Given the description of an element on the screen output the (x, y) to click on. 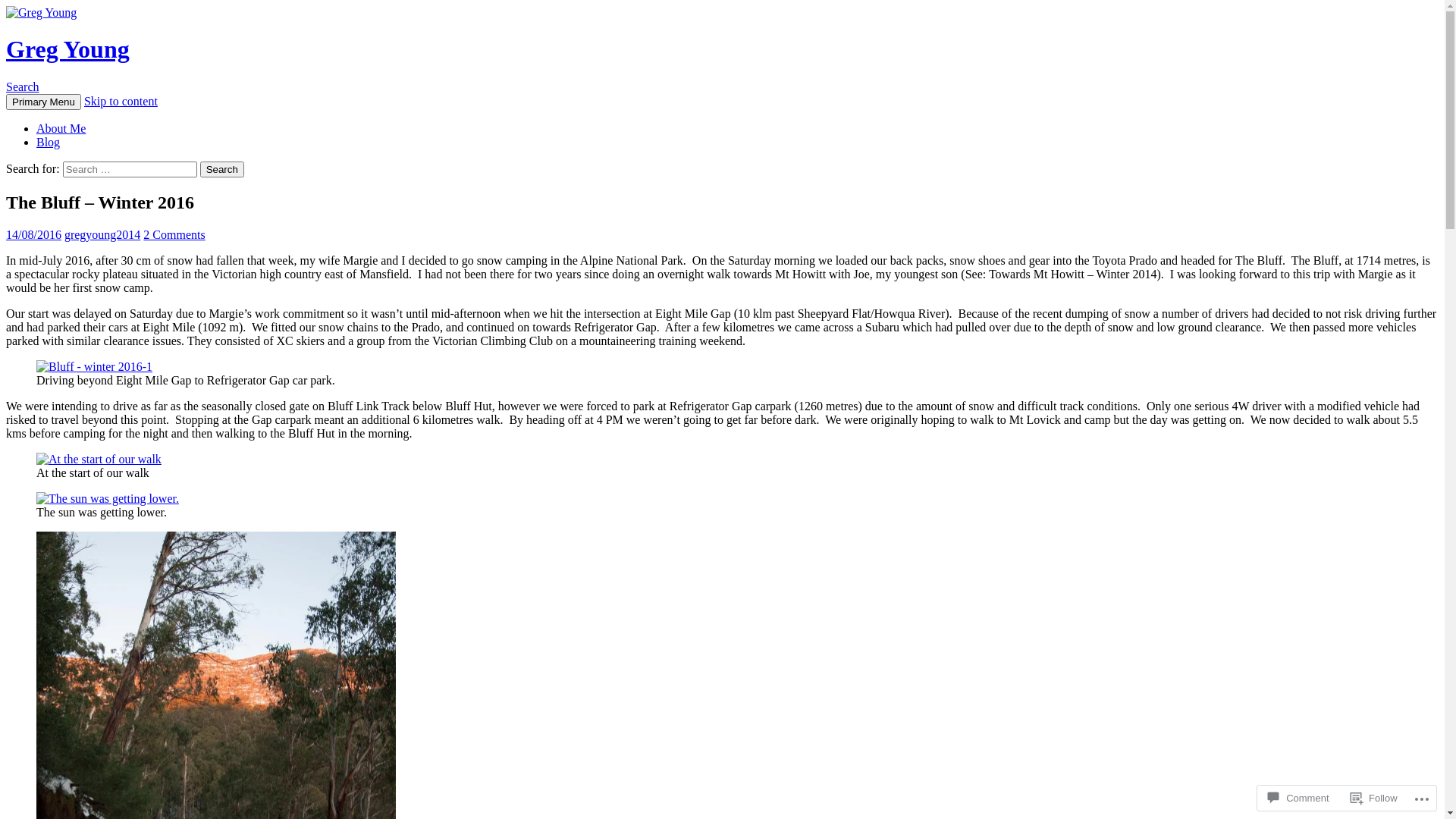
Comment Element type: text (1297, 797)
2 Comments Element type: text (173, 234)
Greg Young Element type: text (67, 48)
Skip to content Element type: text (120, 100)
About Me Element type: text (60, 128)
Follow Element type: text (1373, 797)
gregyoung2014 Element type: text (102, 234)
Blog Element type: text (47, 141)
Search Element type: text (222, 169)
Search Element type: text (22, 86)
Primary Menu Element type: text (43, 101)
14/08/2016 Element type: text (33, 234)
